Given the description of an element on the screen output the (x, y) to click on. 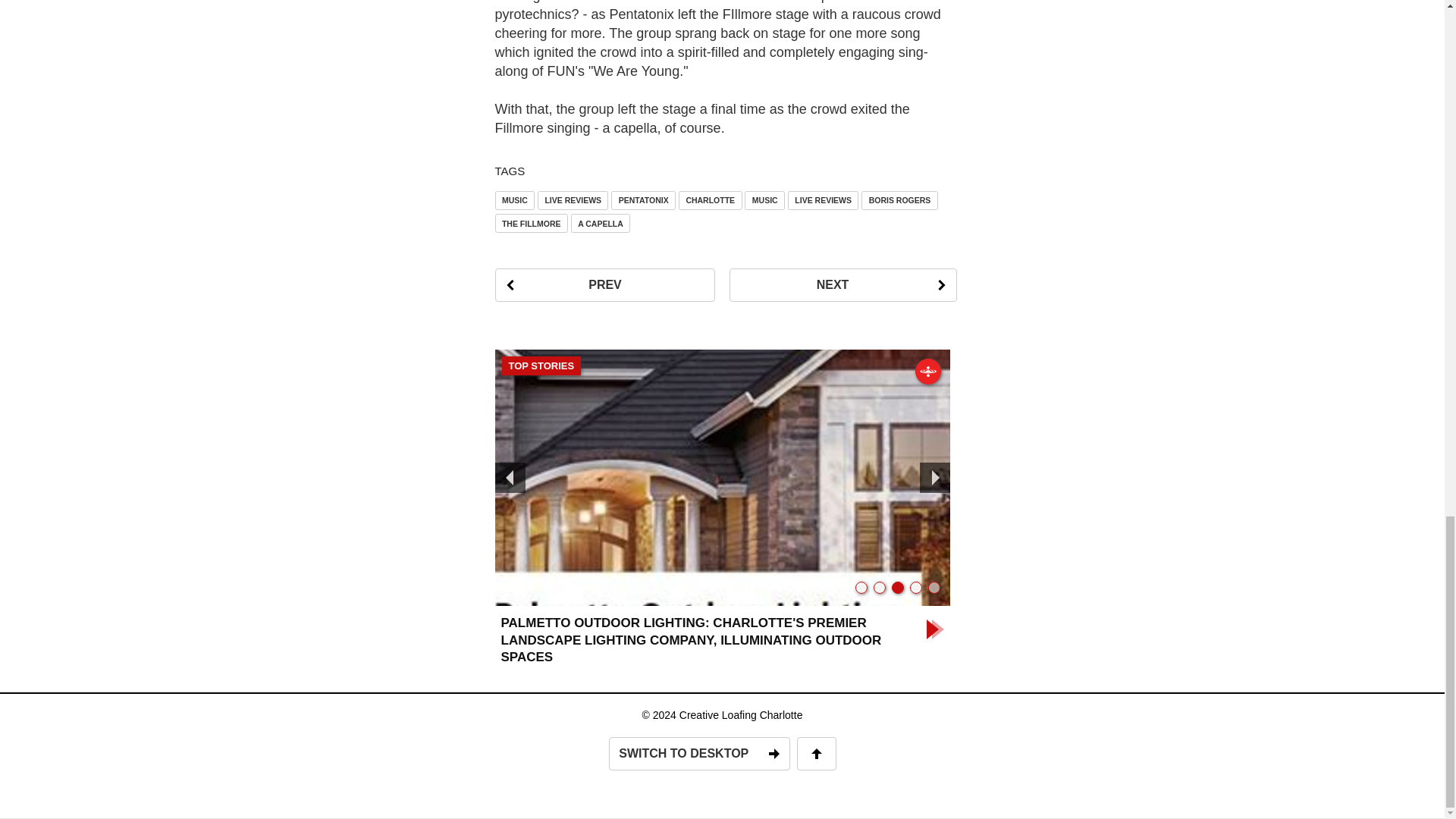
NEXT (842, 285)
BORIS ROGERS (899, 199)
BACK TO TOP (815, 753)
SWITCH TO DESKTOP (698, 753)
THE FILLMORE (531, 222)
MUSIC (514, 199)
A CAPELLA (600, 222)
PREV (604, 285)
MUSIC (764, 199)
CHARLOTTE (710, 199)
LIVE REVIEWS (572, 199)
PENTATONIX (643, 199)
LIVE REVIEWS (823, 199)
